Given the description of an element on the screen output the (x, y) to click on. 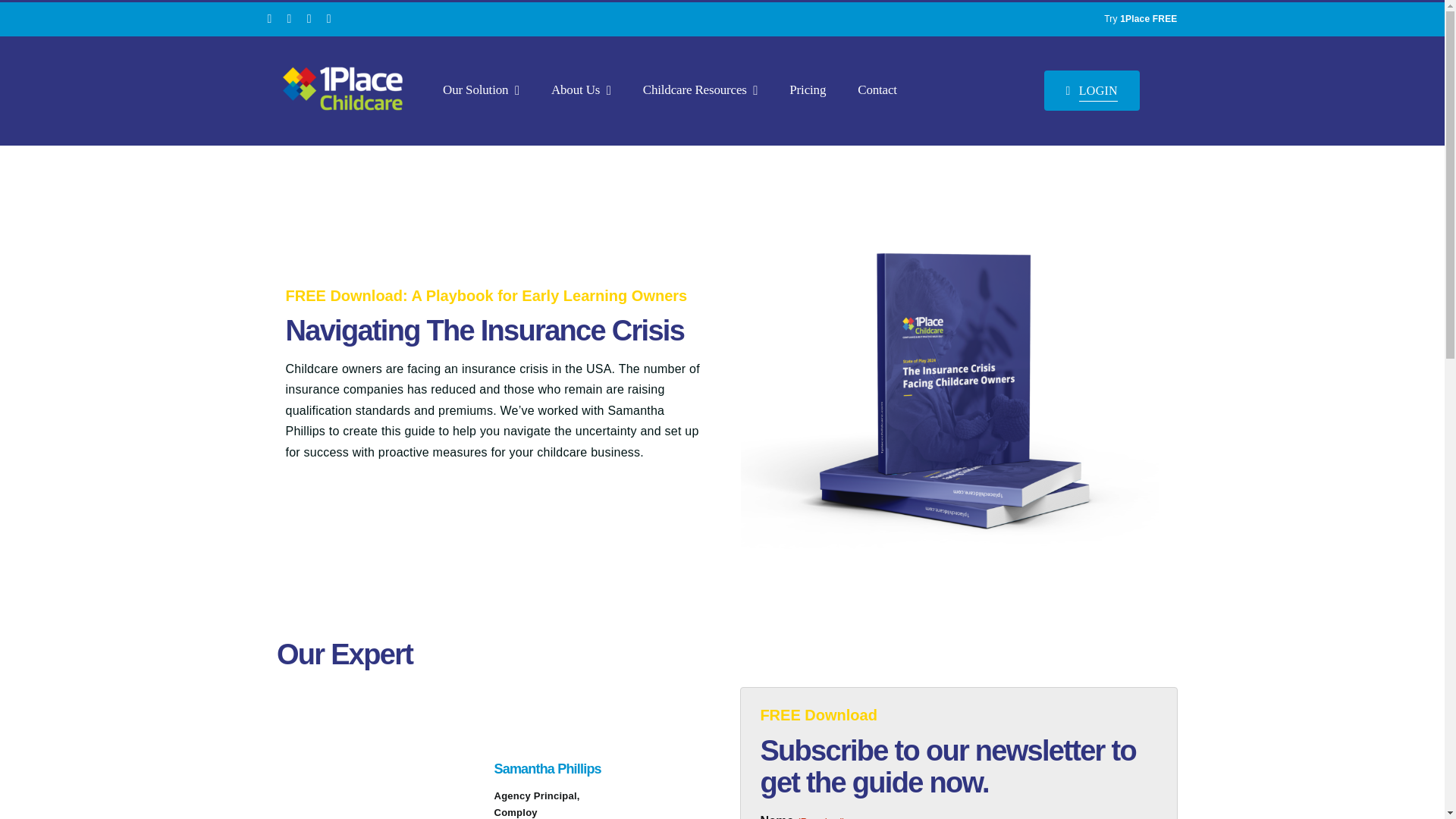
Our Solution (481, 90)
1Place FREE (1147, 18)
Pricing (806, 90)
LOGIN (1091, 90)
About Us (581, 90)
Childcare Resources (700, 90)
Samantha Phillips (548, 768)
Sam (376, 760)
Contact (877, 90)
